Given the description of an element on the screen output the (x, y) to click on. 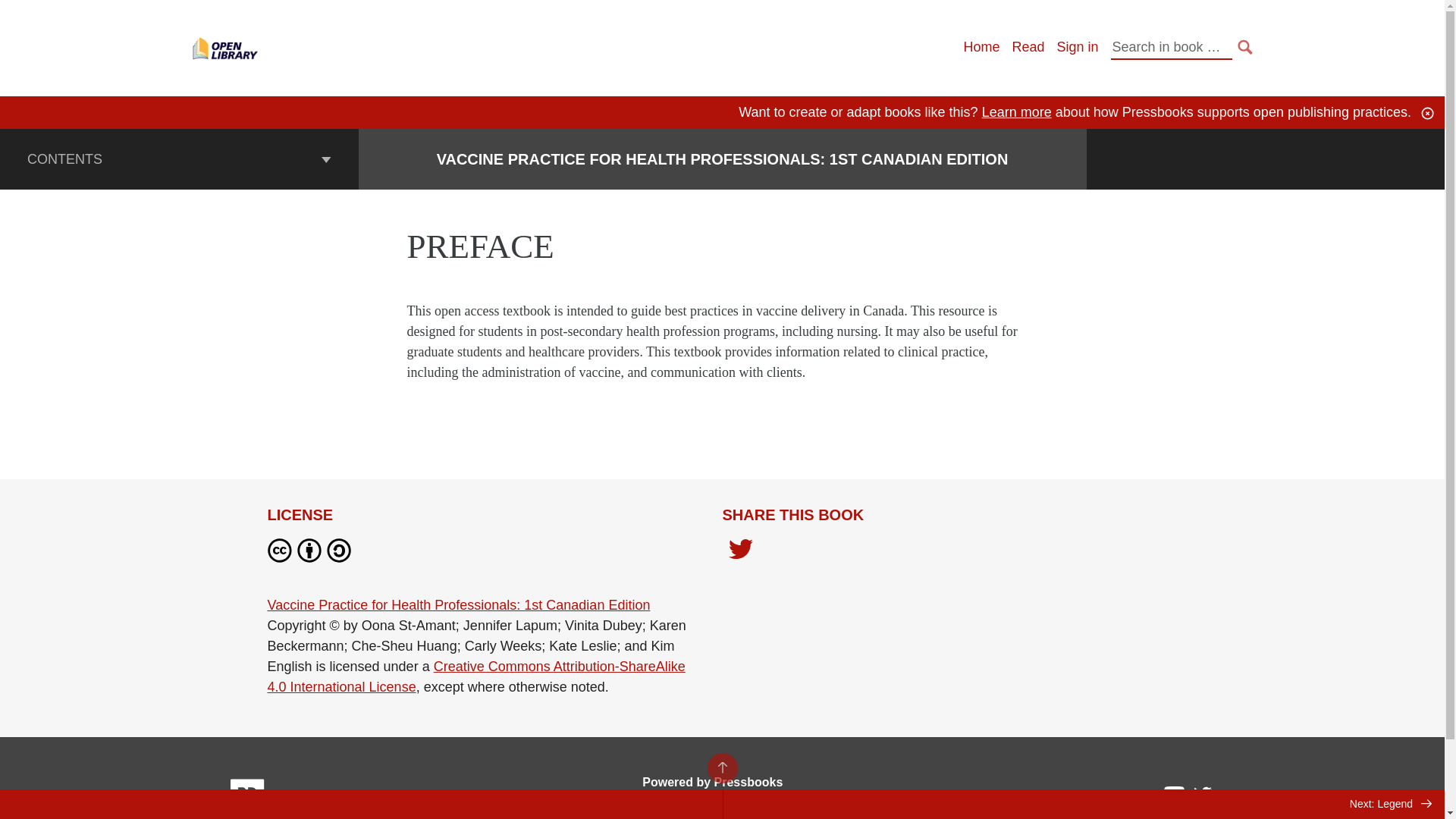
Learn more (1016, 111)
BACK TO TOP (721, 767)
Powered by Pressbooks (712, 781)
Pressbooks on YouTube (1174, 797)
CONTENTS (178, 158)
Contact (826, 812)
Pressbooks Directory (742, 812)
Pressbooks on Twitter (1202, 797)
Share on Twitter (740, 553)
Home (980, 46)
Pressbooks (247, 797)
Guides and Tutorials (627, 812)
SEARCH (1244, 47)
